Given the description of an element on the screen output the (x, y) to click on. 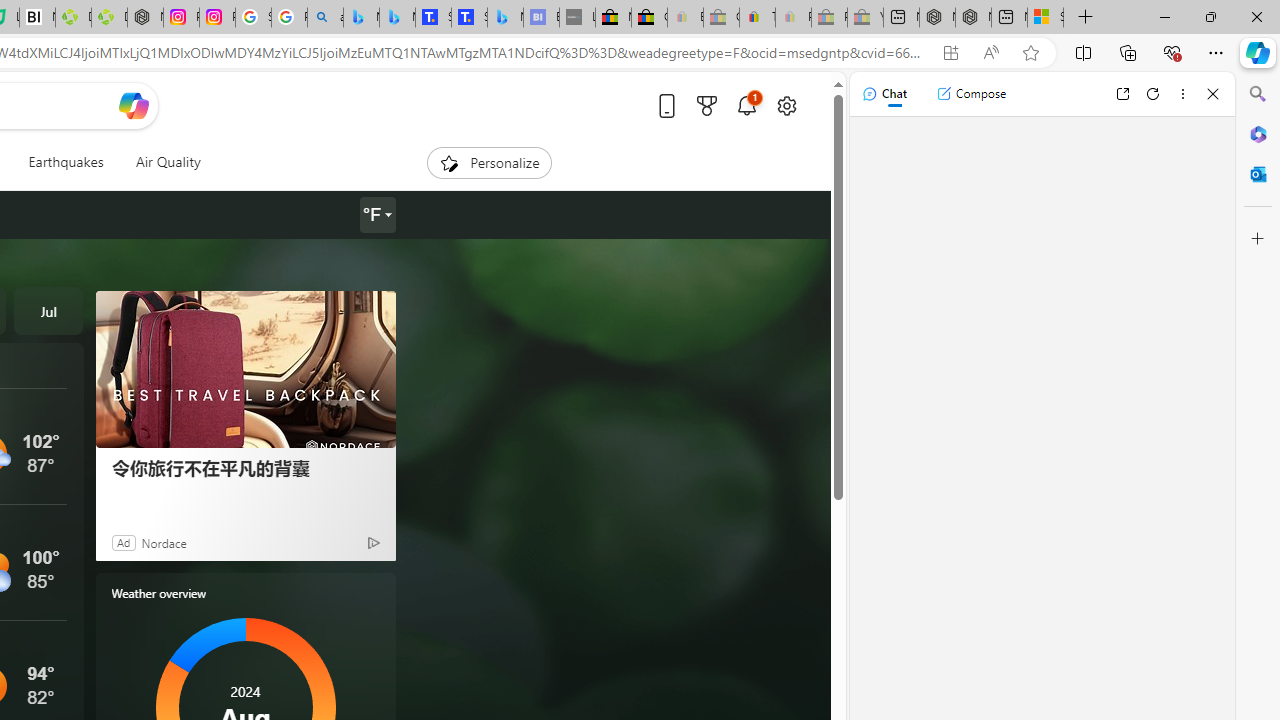
Microsoft Bing Travel - Shangri-La Hotel Bangkok (505, 17)
Jul (48, 310)
Air Quality (167, 162)
Press Room - eBay Inc. - Sleeping (829, 17)
Threats and offensive language policy | eBay (756, 17)
